Given the description of an element on the screen output the (x, y) to click on. 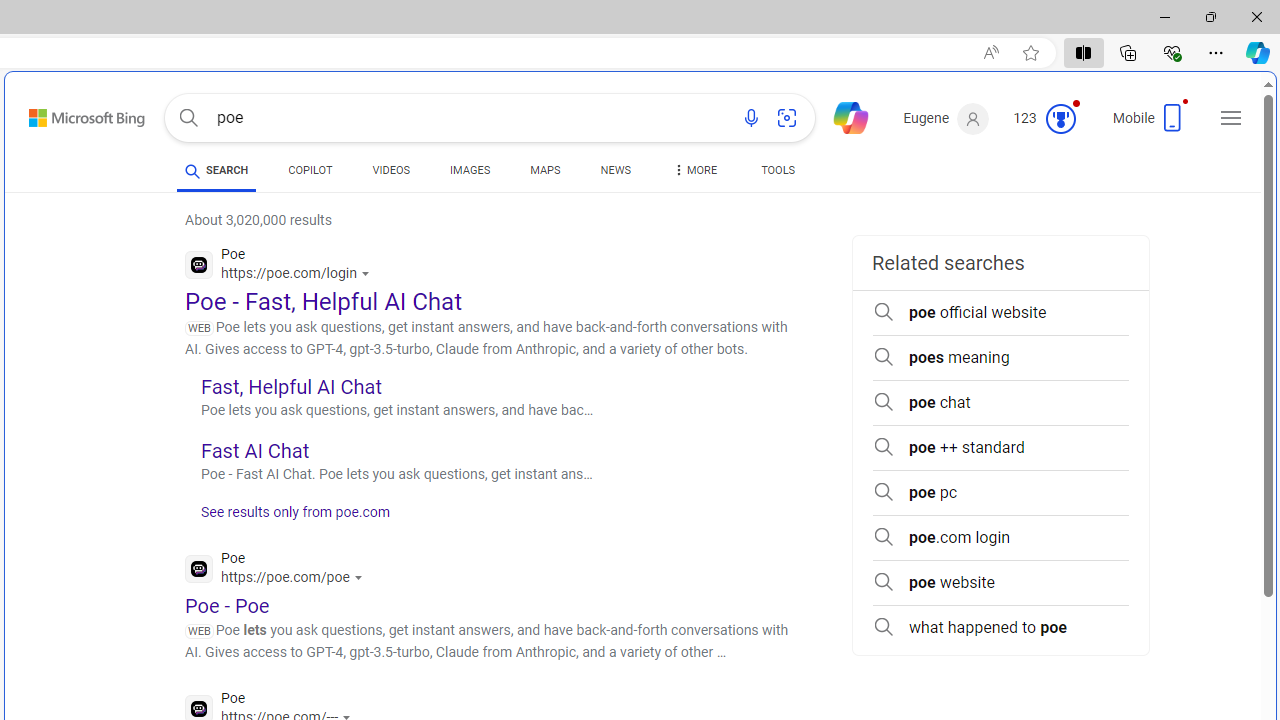
Dropdown Menu (693, 170)
Poe (278, 569)
Class: medal-circled (1060, 118)
Microsoft Rewards 123 (1046, 119)
Poe - Fast, Helpful AI Chat (323, 301)
TOOLS (777, 173)
Mobile (1152, 124)
poe official website (1000, 312)
Global web icon (198, 708)
MAPS (545, 173)
NEWS (614, 170)
